Given the description of an element on the screen output the (x, y) to click on. 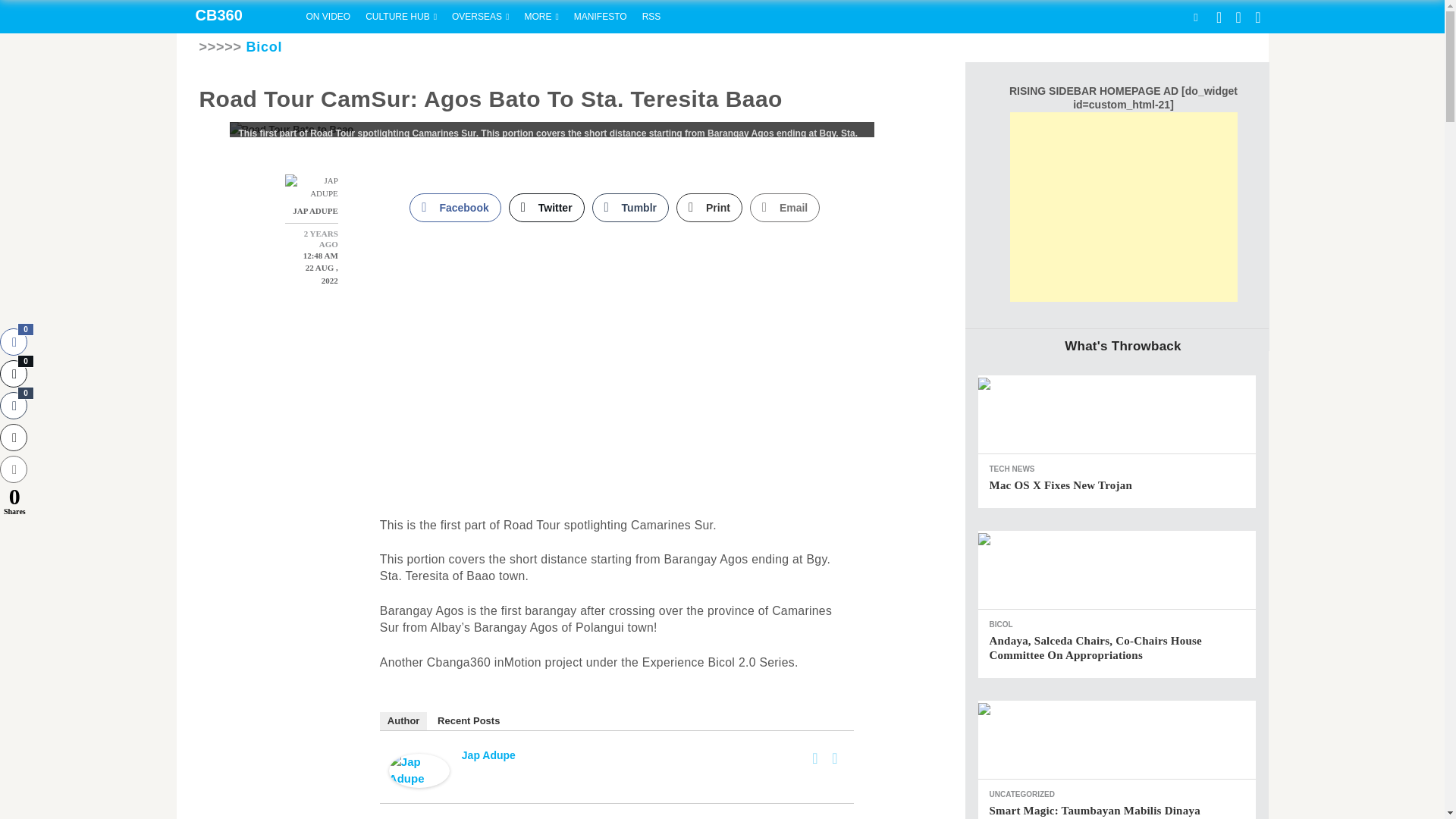
CB360 (237, 16)
ON VIDEO (328, 16)
world (480, 16)
CULTURE HUB (401, 16)
OVERSEAS (480, 16)
MORE (541, 16)
RSS Feed-Subscribe (651, 16)
About Us (600, 16)
